Given the description of an element on the screen output the (x, y) to click on. 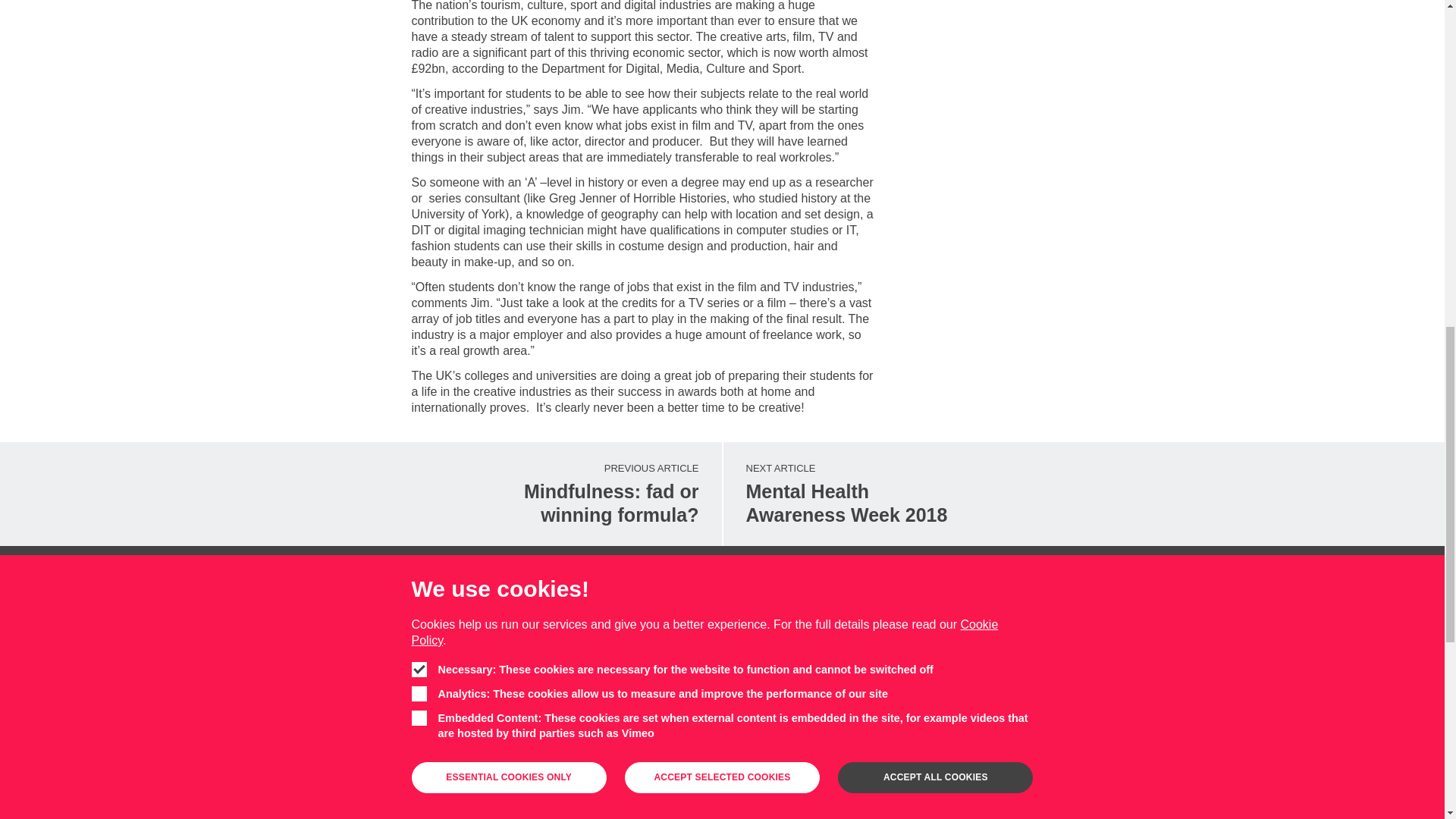
EDUCATIONAL RESOURCES (516, 622)
HOME (425, 622)
Governance (482, 784)
Sign Up (722, 772)
Who we are (482, 692)
Partner organisations (882, 494)
Organisations we represent (482, 807)
Our team (482, 762)
Sign Up (482, 739)
How we work (722, 772)
privacy policy (482, 716)
